Given the description of an element on the screen output the (x, y) to click on. 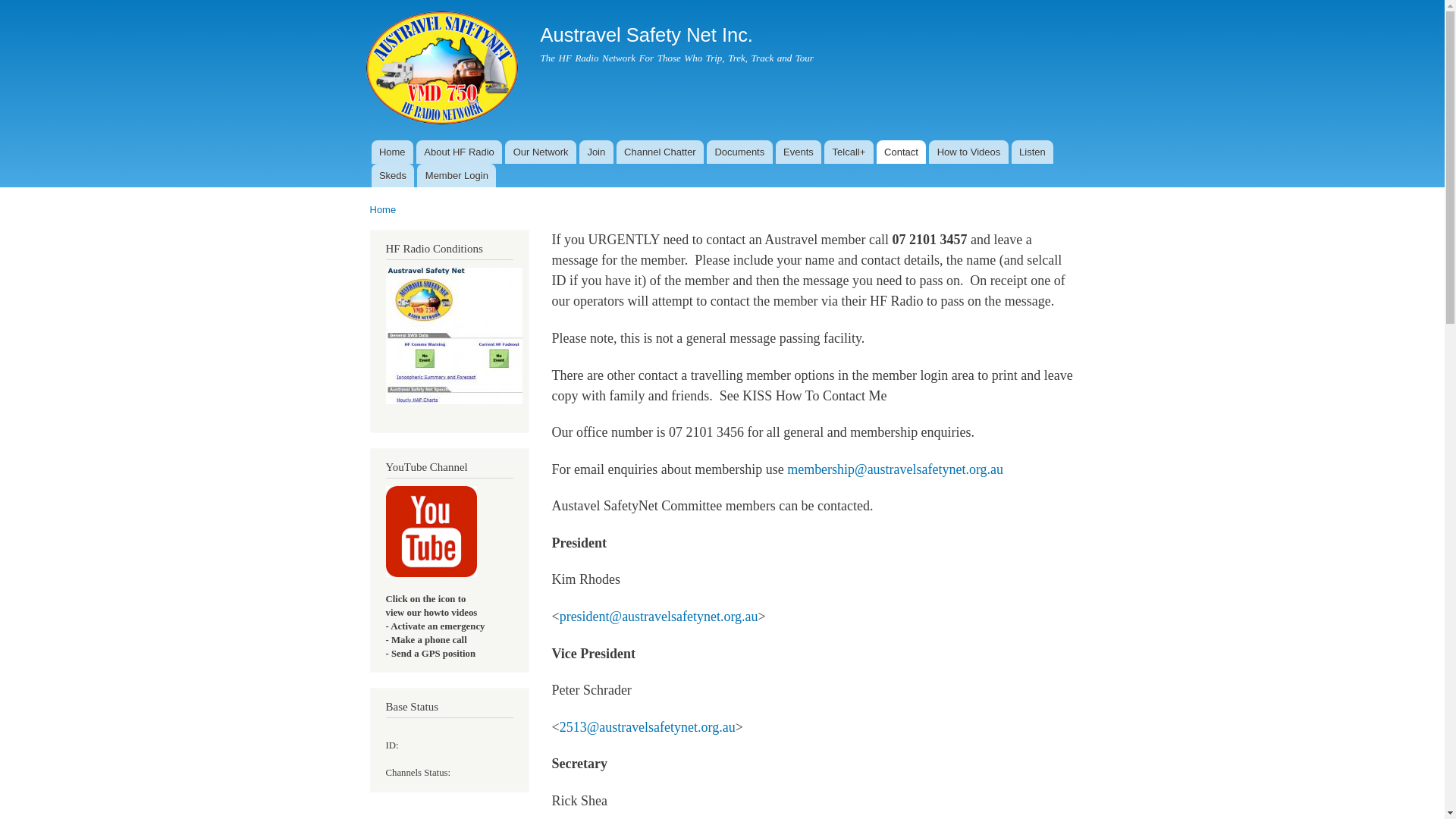
About HF Radio Element type: text (459, 151)
Skeds Element type: text (392, 175)
Member Login Element type: text (456, 175)
How to Videos Element type: text (967, 151)
Our Network Element type: text (540, 151)
Home Element type: hover (442, 70)
Contact Element type: text (901, 151)
Events Element type: text (798, 151)
Telcall+ Element type: text (848, 151)
Listen Element type: text (1032, 151)
president@austravelsafetynet.org.au Element type: text (658, 616)
membership@austravelsafetynet.org.au Element type: text (895, 468)
2513@austravelsafetynet.org.au Element type: text (647, 726)
Home Element type: text (383, 209)
Austravel Safety Net Inc. Element type: text (645, 34)
Documents Element type: text (739, 151)
Home Element type: text (392, 151)
Join Element type: text (596, 151)
Channel Chatter Element type: text (659, 151)
Skip to main content Element type: text (690, 1)
